Given the description of an element on the screen output the (x, y) to click on. 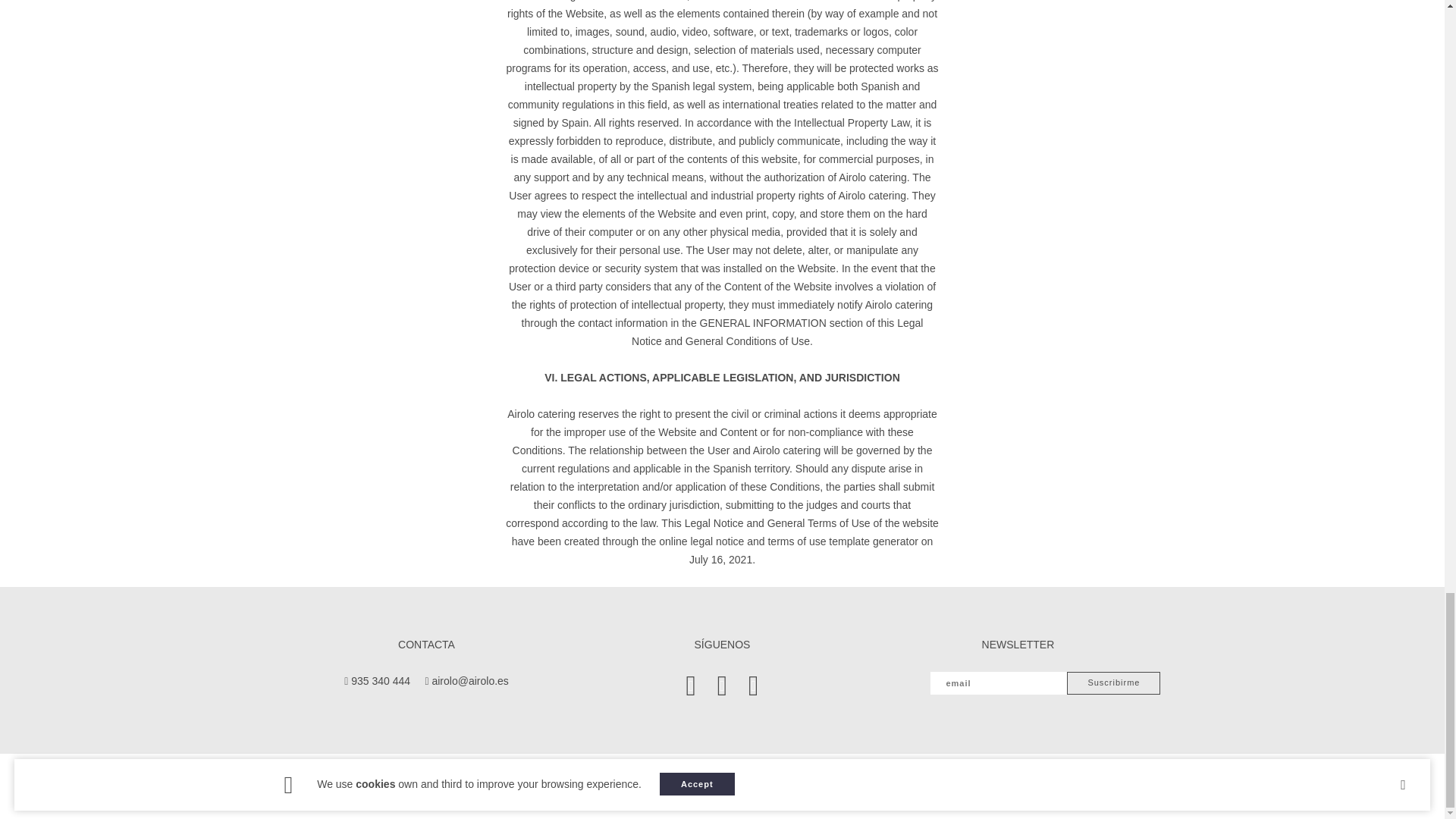
Privacy (576, 787)
Suscribirme (1113, 682)
Cookies (625, 787)
Staffmedia (897, 787)
Legal (534, 787)
